Given the description of an element on the screen output the (x, y) to click on. 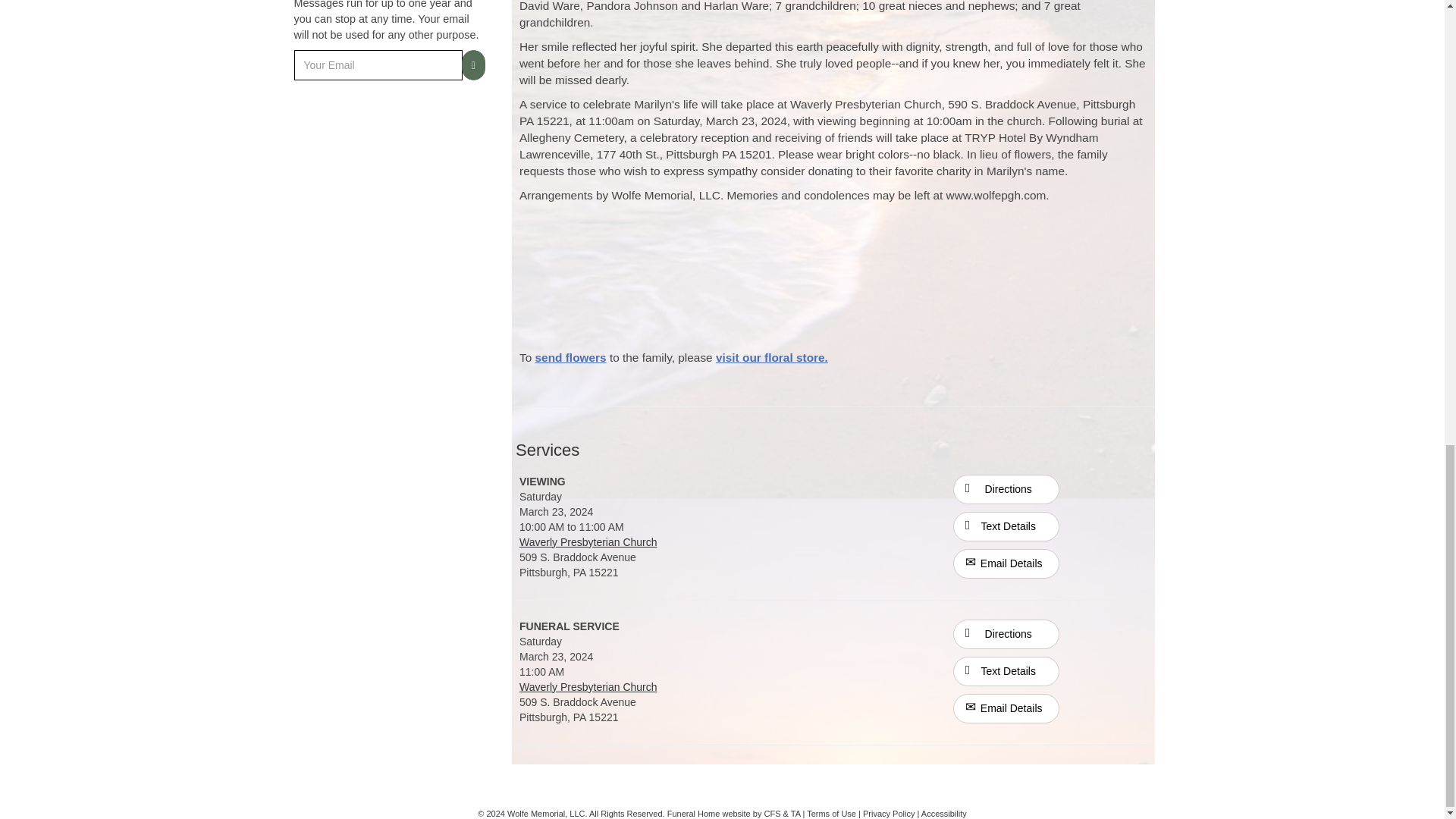
Directions (1006, 488)
Privacy Policy (888, 813)
CFS (771, 813)
Email Details (1006, 563)
TA (795, 813)
Email Details (1006, 708)
send flowers (571, 357)
visit our floral store. (772, 357)
Text Details (1006, 671)
Accessibility (943, 813)
Waverly Presbyterian Church (588, 541)
Text Details (1006, 526)
Terms of Use (831, 813)
Directions (1006, 633)
Waverly Presbyterian Church (588, 686)
